Given the description of an element on the screen output the (x, y) to click on. 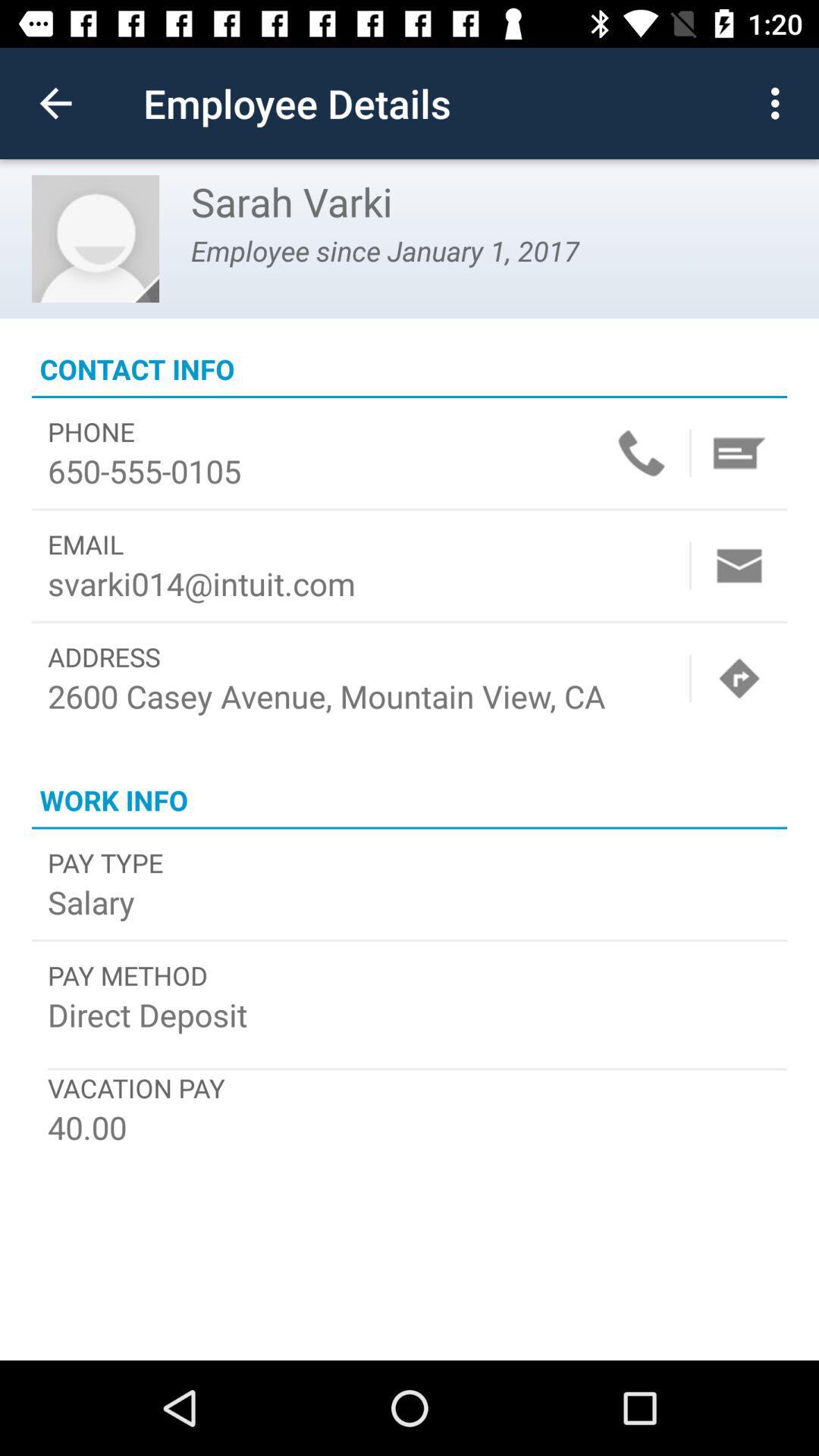
go to masseage (739, 453)
